Given the description of an element on the screen output the (x, y) to click on. 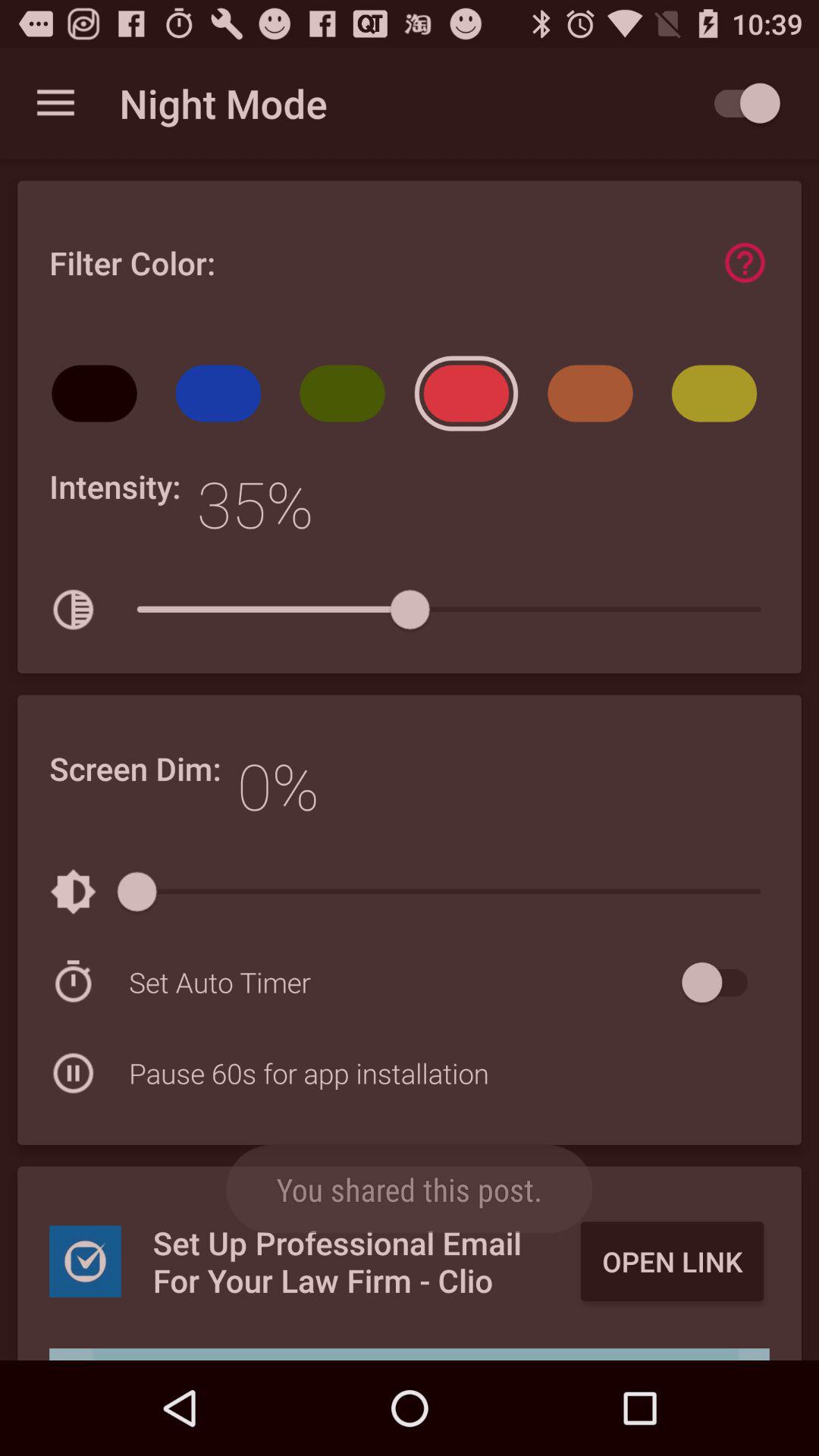
select the the button above the text pause 60s (401, 982)
select the first icon below the text screen dim (73, 891)
click on the blue button which at bottom left of the page (85, 1261)
select the last section of the page (409, 1256)
click on icon below intensity (73, 609)
click on open link at bottom right corner (671, 1261)
